Given the description of an element on the screen output the (x, y) to click on. 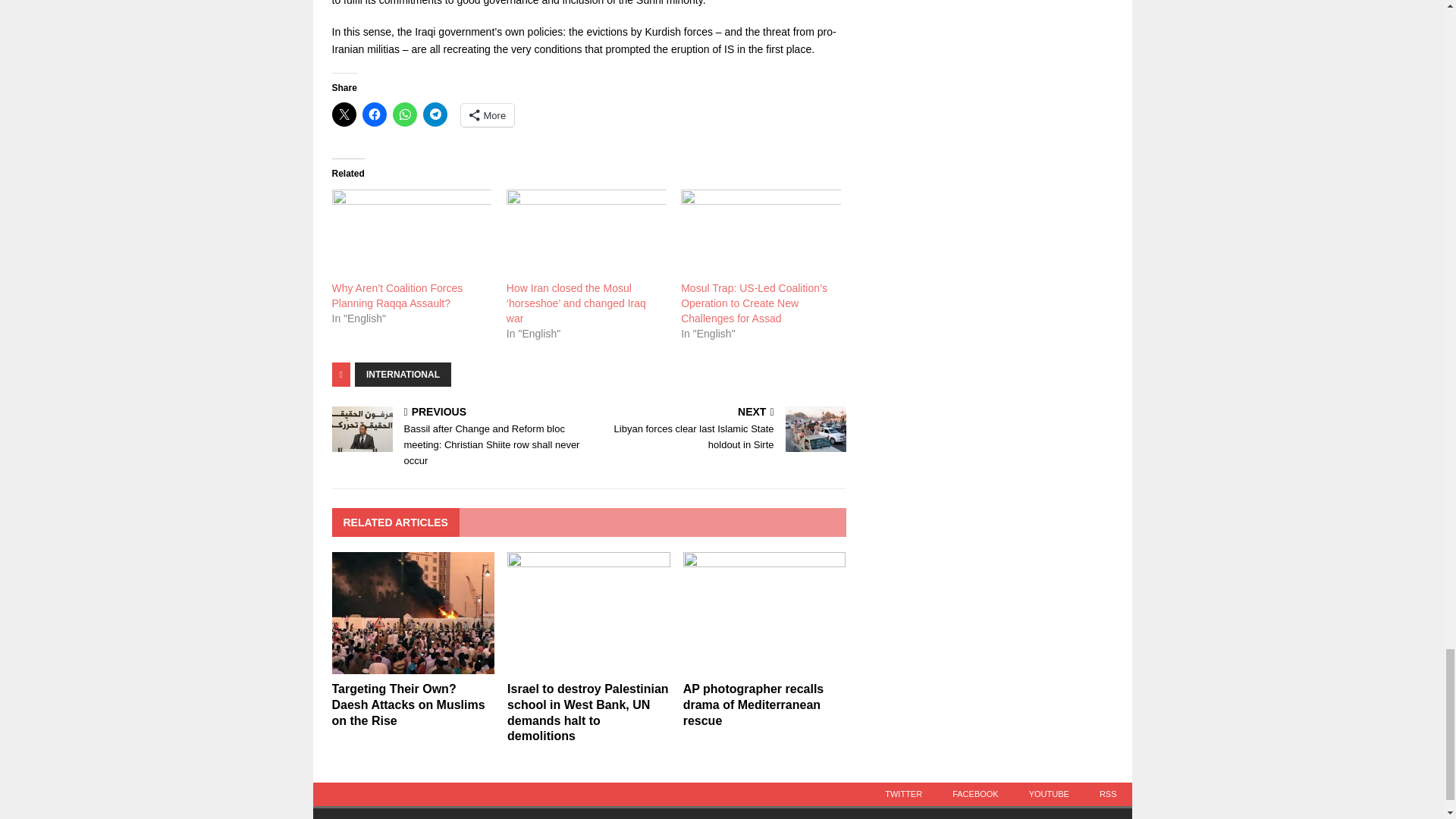
Click to share on Telegram (434, 114)
Click to share on WhatsApp (404, 114)
Click to share on Facebook (374, 114)
Click to share on X (343, 114)
